Given the description of an element on the screen output the (x, y) to click on. 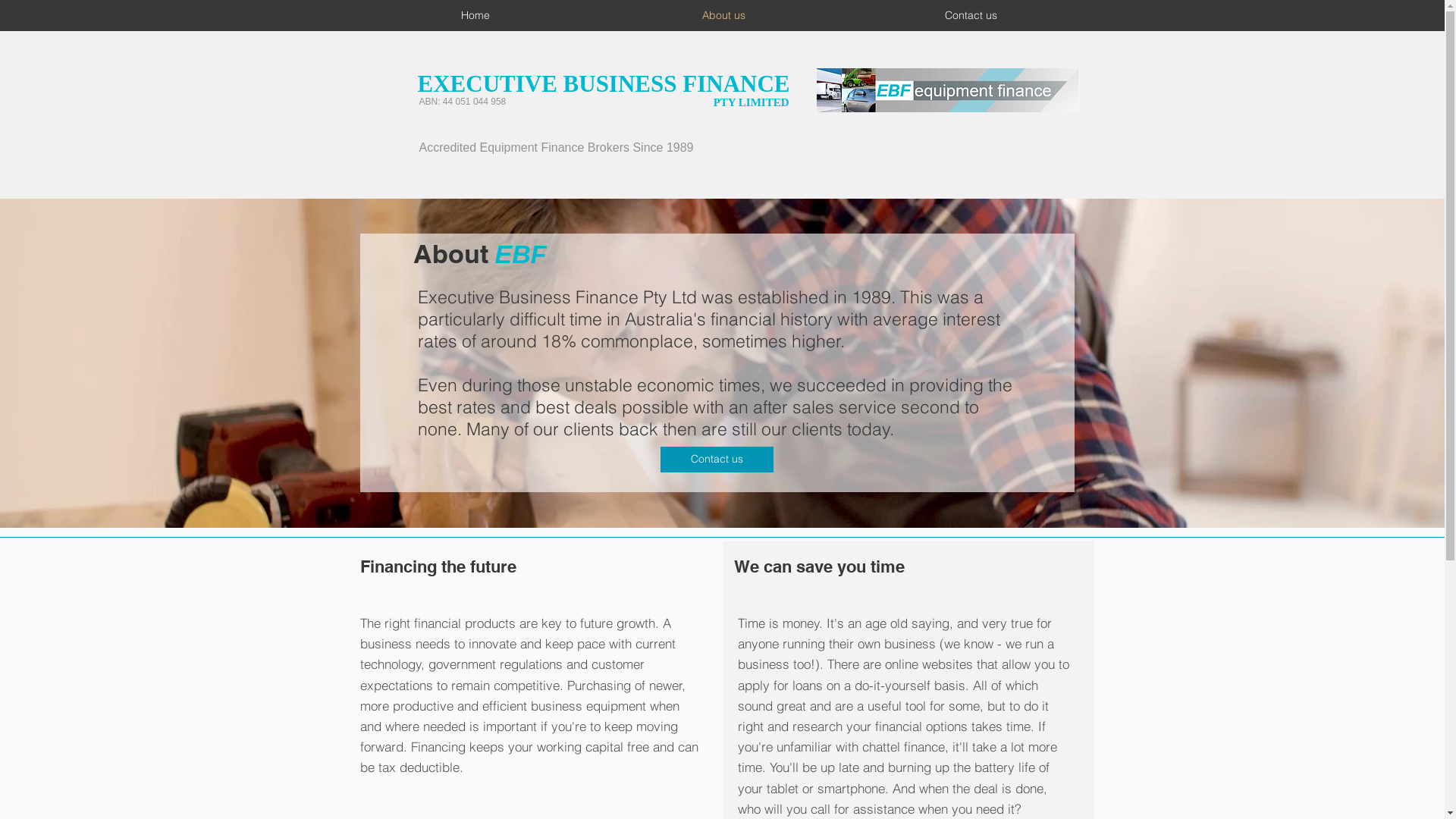
Contact us Element type: text (971, 15)
Contact us Element type: text (715, 459)
Home Element type: text (475, 15)
Call us today Ph: 02 4579 6669 Element type: hover (946, 90)
About us Element type: text (723, 15)
